Given the description of an element on the screen output the (x, y) to click on. 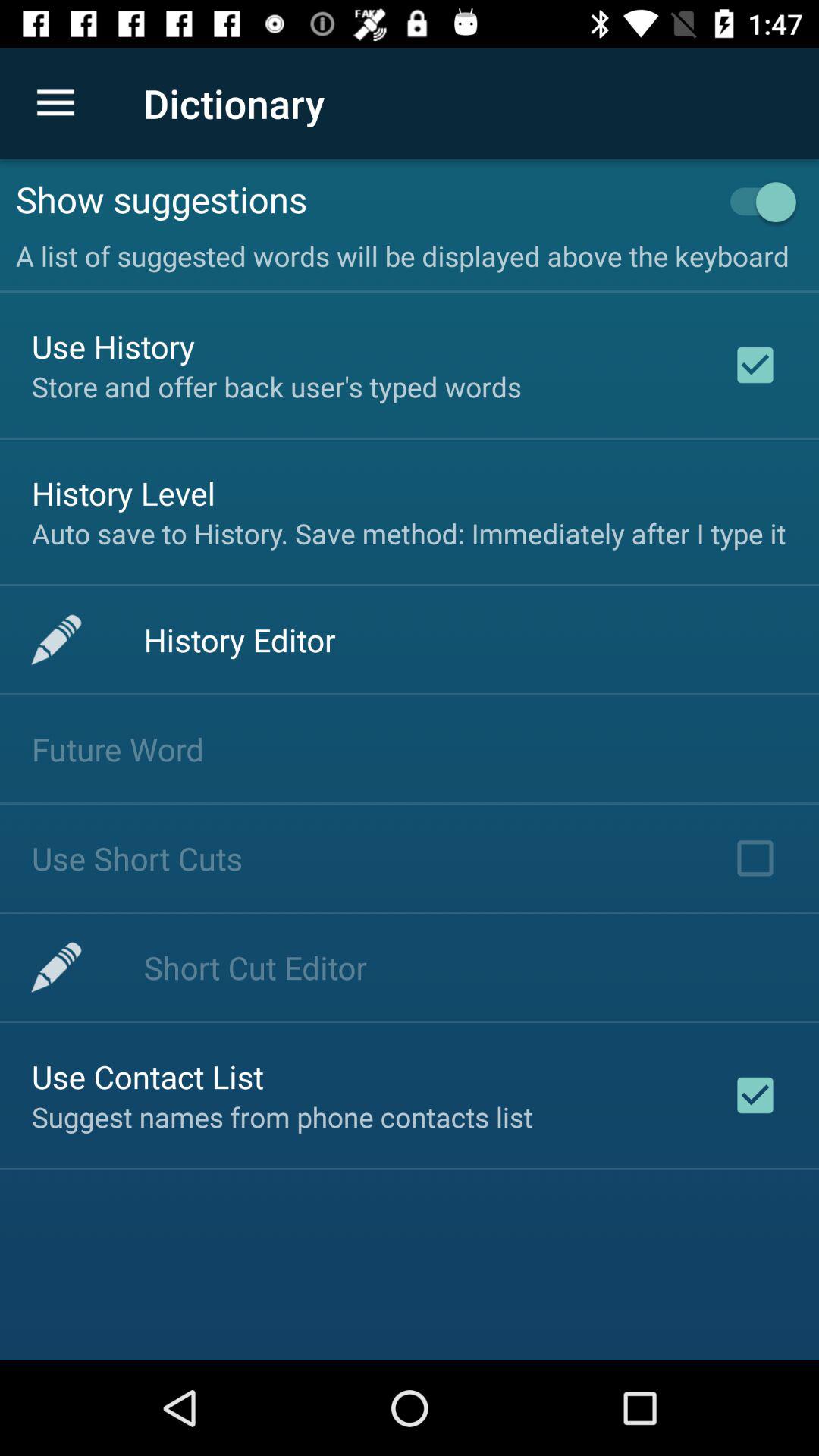
press the item above store and offer icon (113, 345)
